Given the description of an element on the screen output the (x, y) to click on. 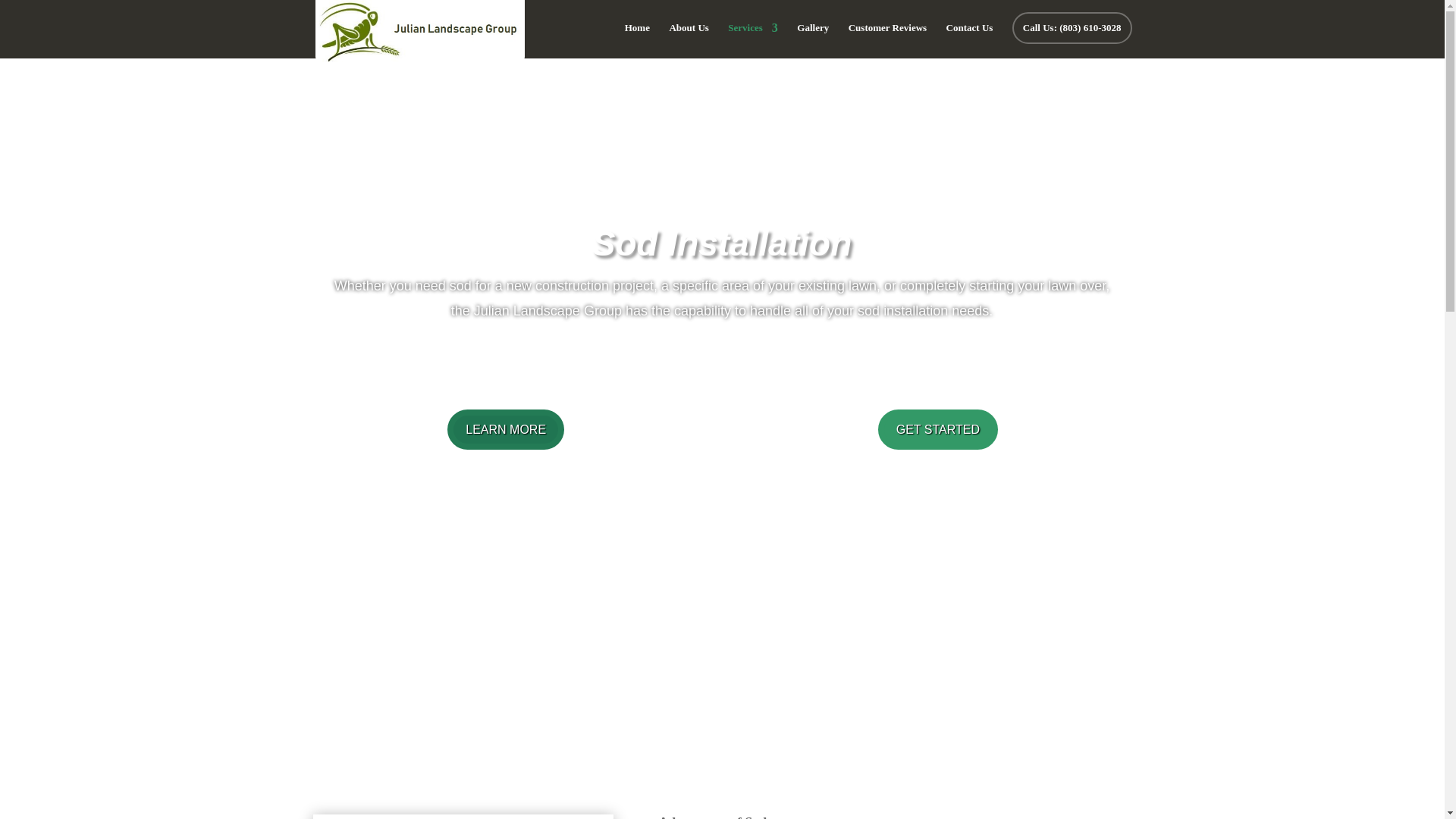
GET STARTED (937, 429)
Contact Us (969, 40)
Gallery (812, 40)
LEARN MORE (505, 429)
About Us (687, 40)
Services (752, 40)
Customer Reviews (887, 40)
